Given the description of an element on the screen output the (x, y) to click on. 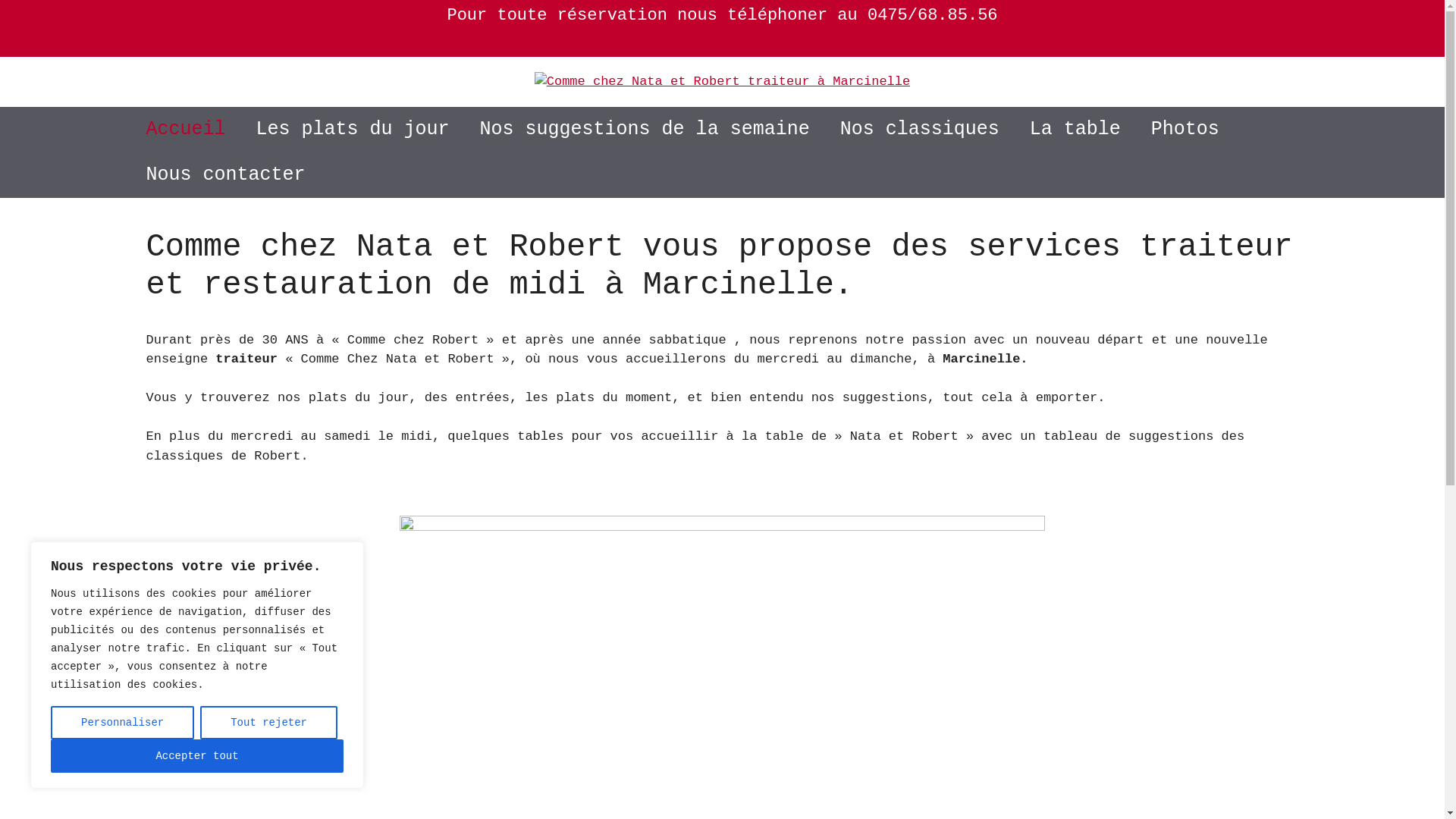
Nos suggestions de la semaine Element type: text (644, 129)
Tout rejeter Element type: text (268, 722)
La table Element type: text (1074, 129)
Personnaliser Element type: text (122, 722)
Photos Element type: text (1184, 129)
Accueil Element type: text (185, 129)
Accepter tout Element type: text (196, 755)
Les plats du jour Element type: text (352, 129)
Nos classiques Element type: text (919, 129)
Nous contacter Element type: text (225, 174)
